Given the description of an element on the screen output the (x, y) to click on. 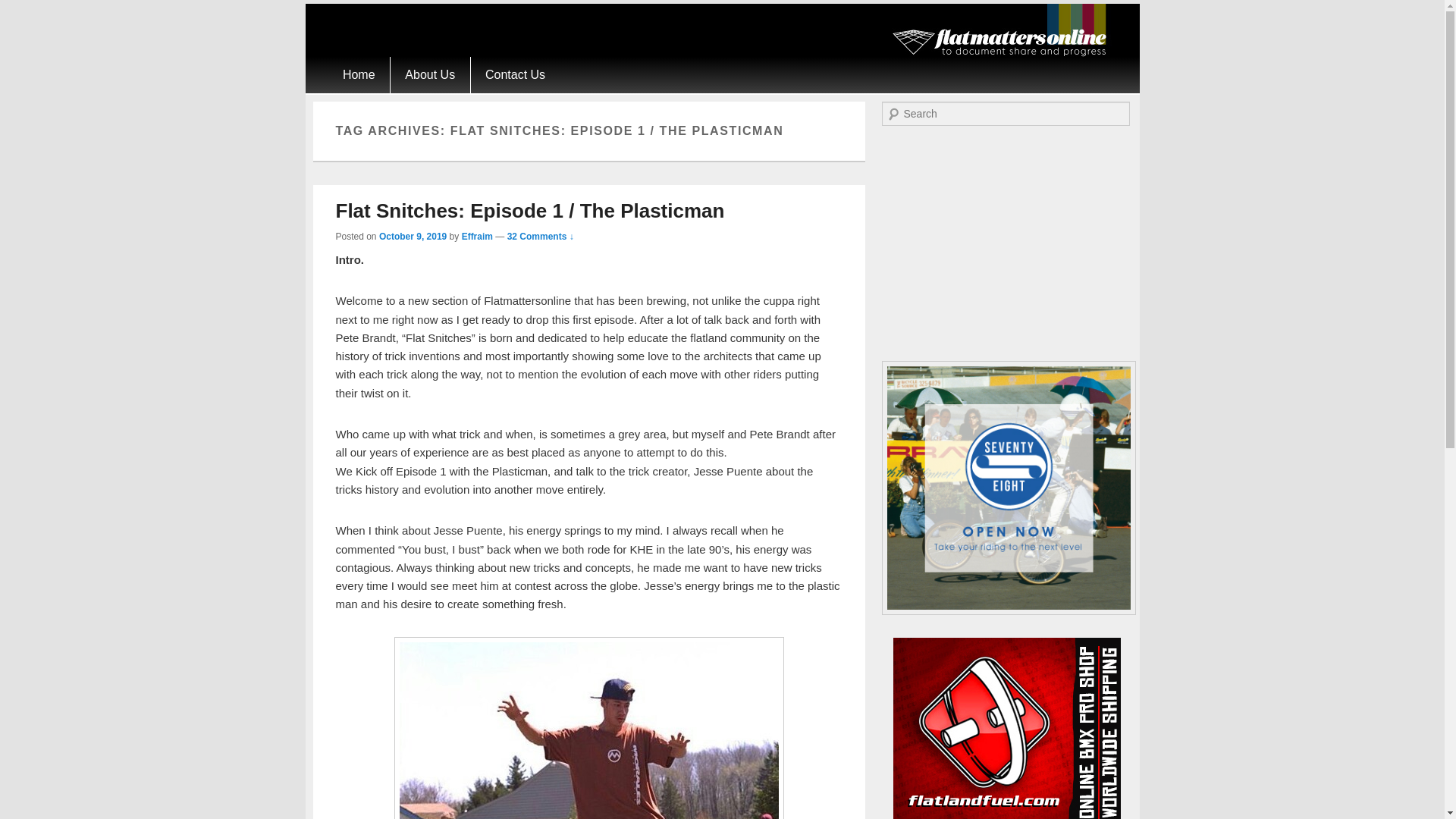
Home (357, 74)
4:20 pm (412, 235)
Skip to primary content (385, 65)
Effraim (477, 235)
Flat Matters Online (968, 79)
Skip to secondary content (392, 65)
Skip to secondary content (392, 65)
View all posts by Effraim (477, 235)
Skip to primary content (385, 65)
Flat Matters Online (1003, 51)
Advertisement (1005, 243)
About Us (430, 74)
Search (21, 11)
Contact Us (515, 74)
Flat Matters Online (968, 79)
